Given the description of an element on the screen output the (x, y) to click on. 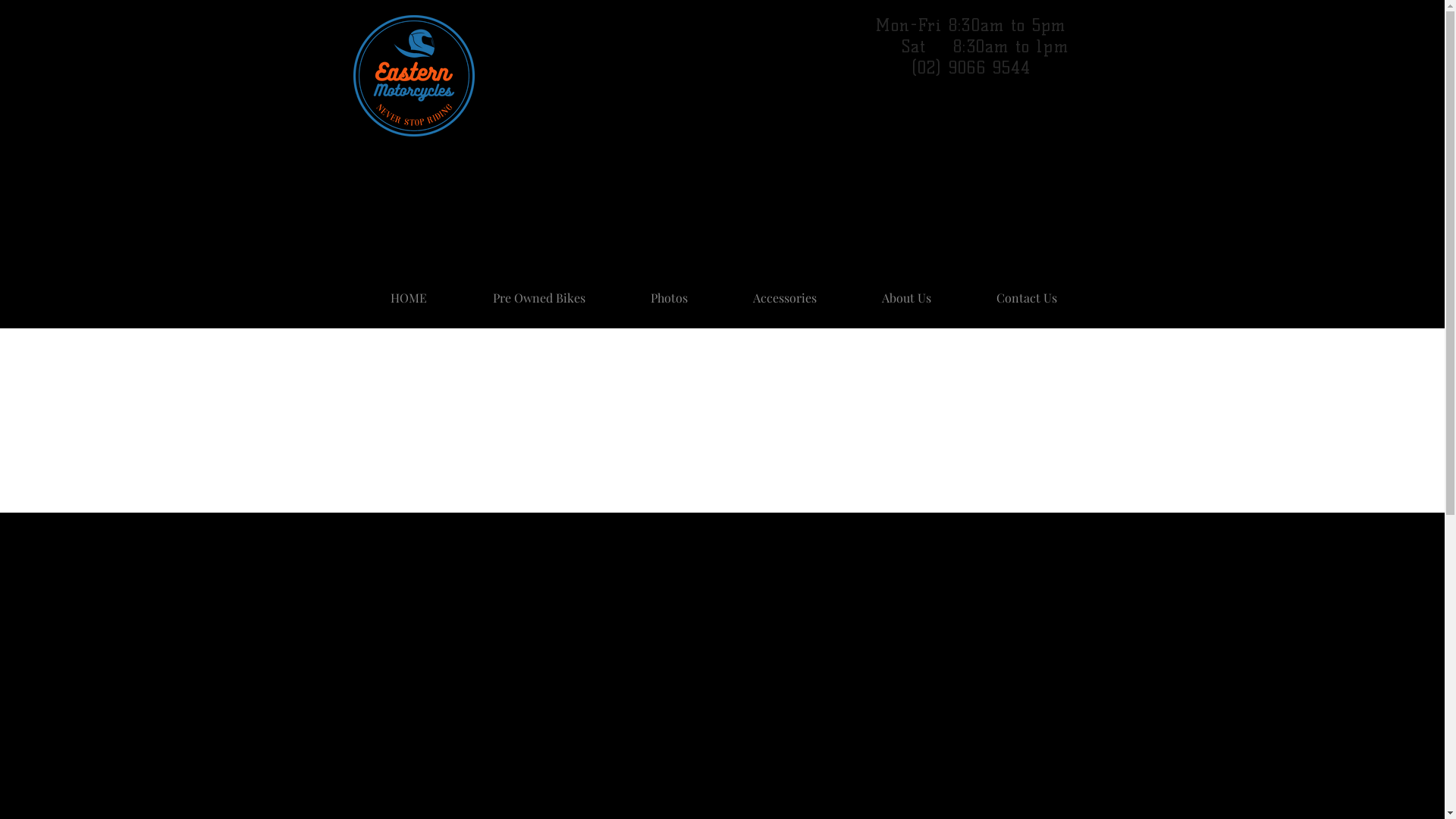
About Us Element type: text (906, 291)
Accessories Element type: text (784, 291)
Pre Owned Bikes Element type: text (538, 291)
Contact Us Element type: text (1025, 291)
Photos Element type: text (668, 291)
HOME Element type: text (408, 291)
